Given the description of an element on the screen output the (x, y) to click on. 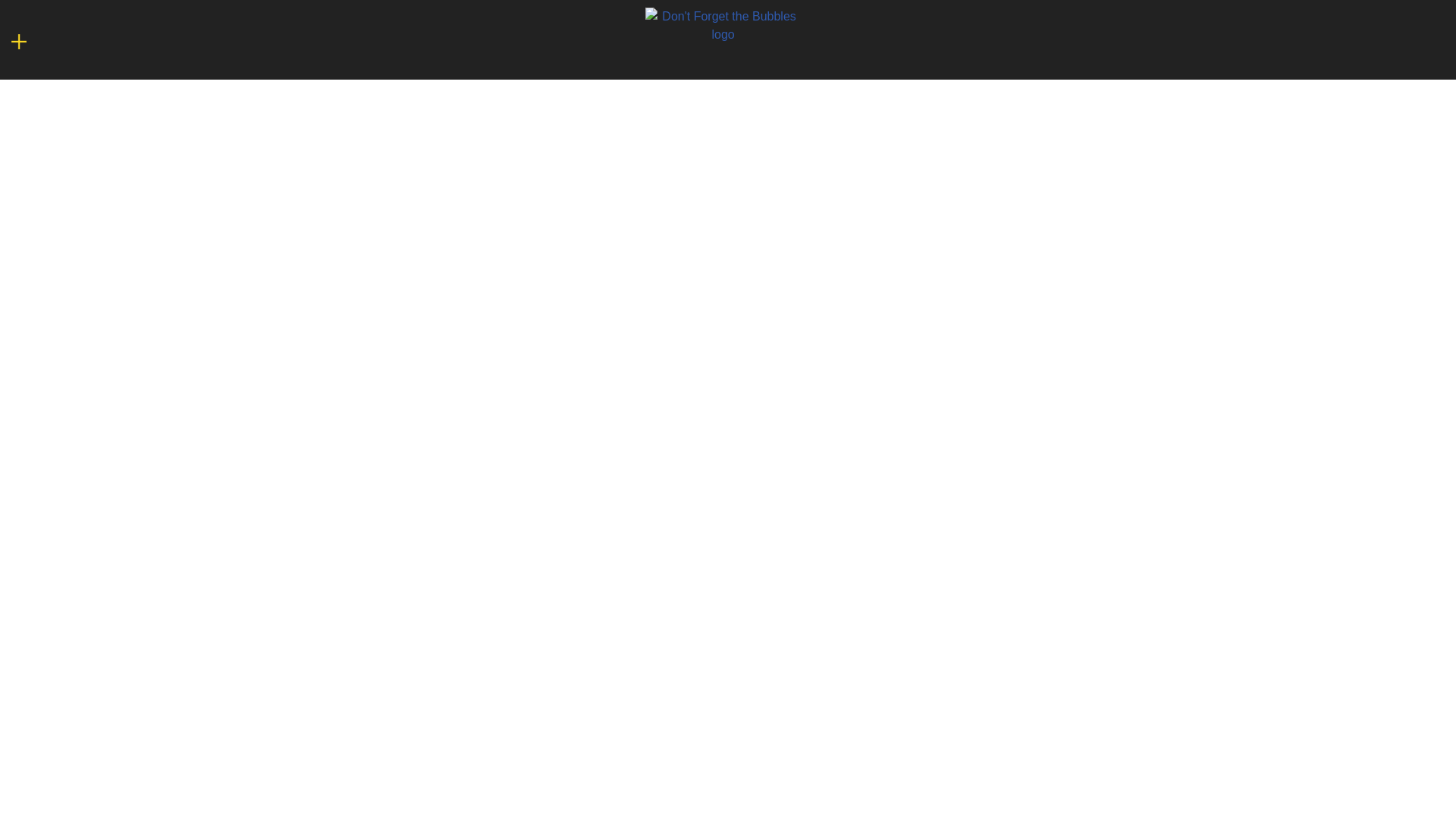
Skip to content (15, 31)
